Given the description of an element on the screen output the (x, y) to click on. 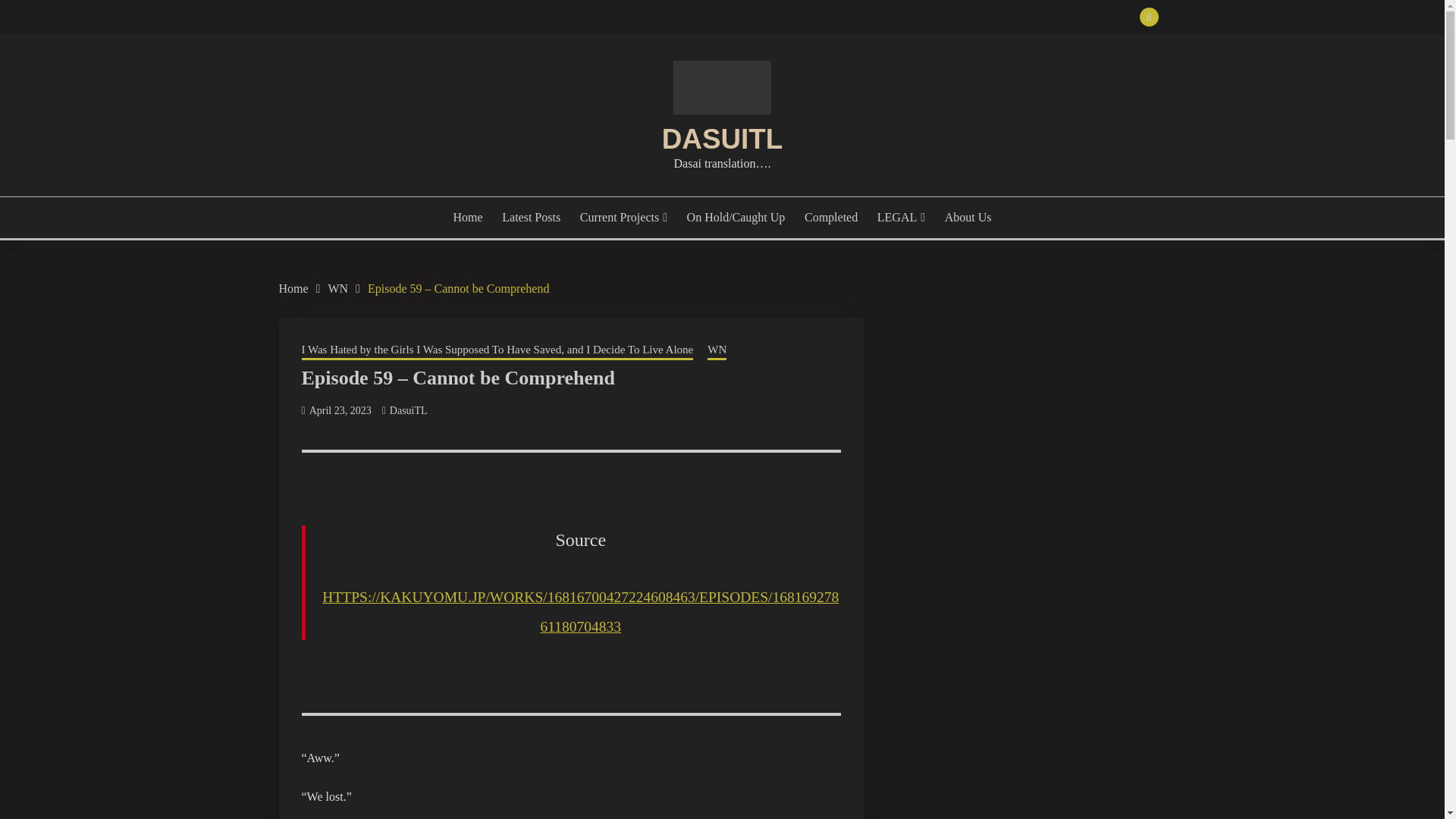
Home (467, 217)
April 23, 2023 (339, 410)
DASUITL (722, 138)
Current Projects (622, 217)
DasuiTL (409, 410)
WN (337, 287)
Completed (831, 217)
Home (293, 287)
About Us (967, 217)
